Given the description of an element on the screen output the (x, y) to click on. 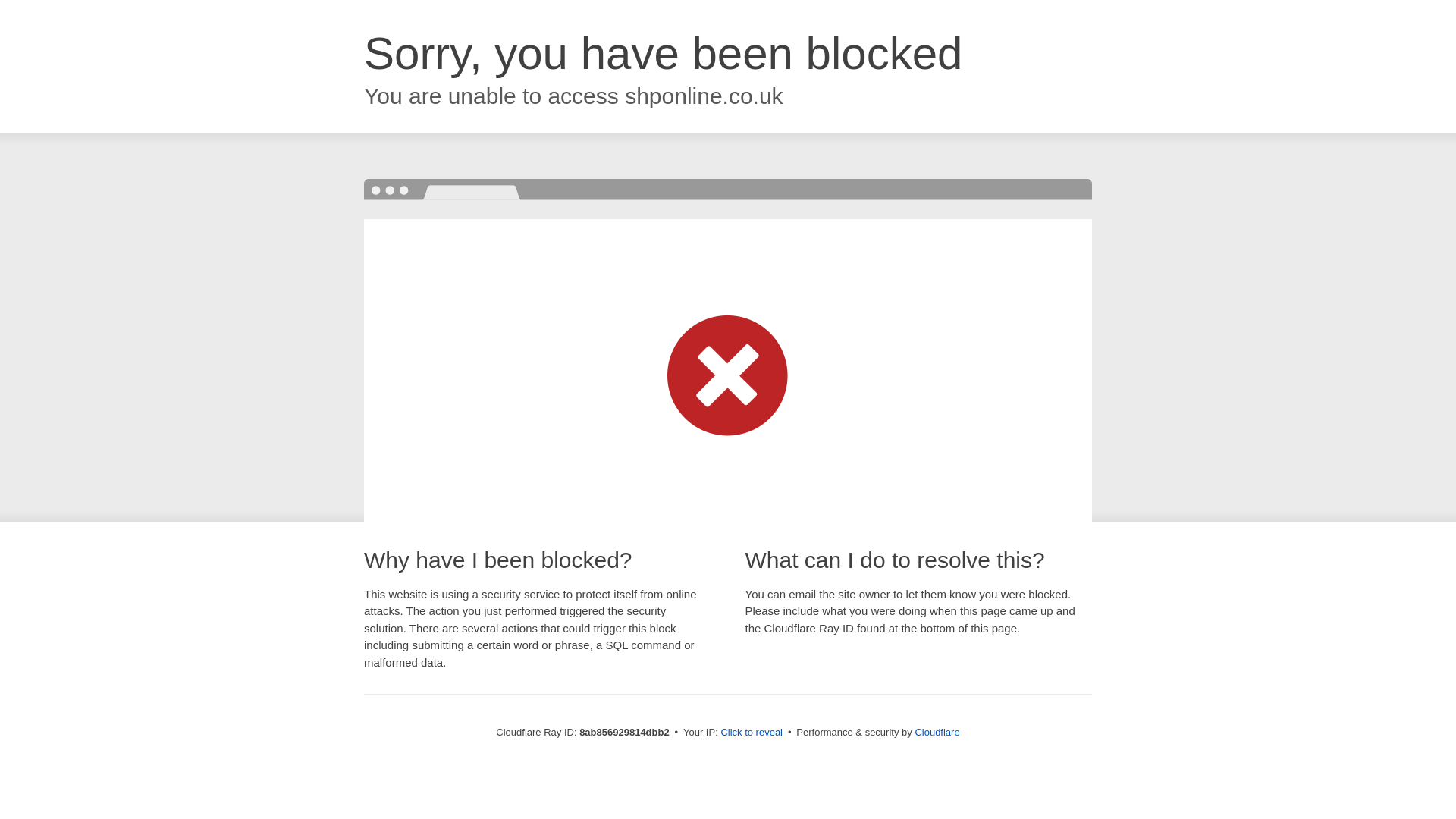
Click to reveal (751, 732)
Cloudflare (936, 731)
